Given the description of an element on the screen output the (x, y) to click on. 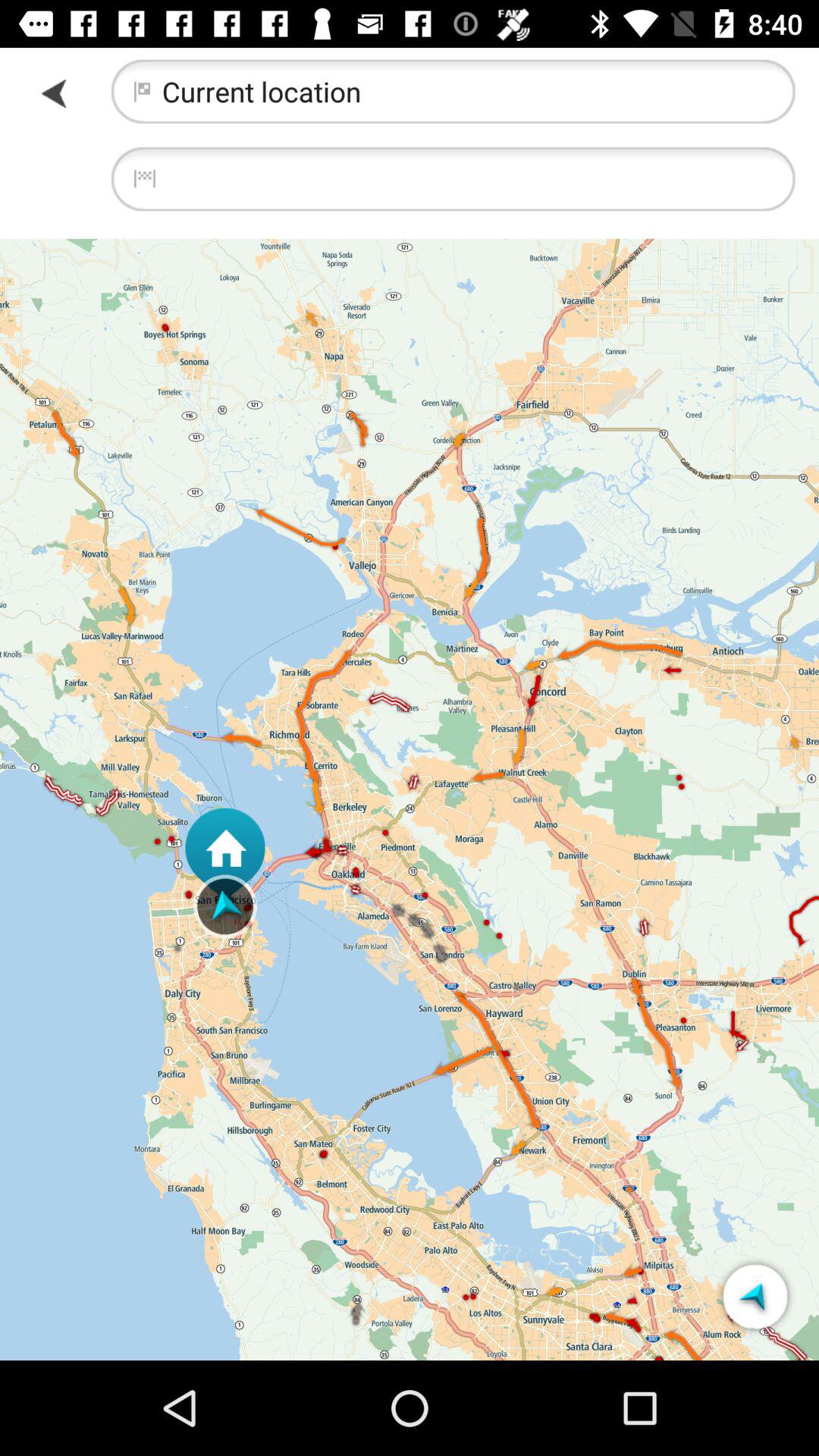
go to previous (55, 92)
